Given the description of an element on the screen output the (x, y) to click on. 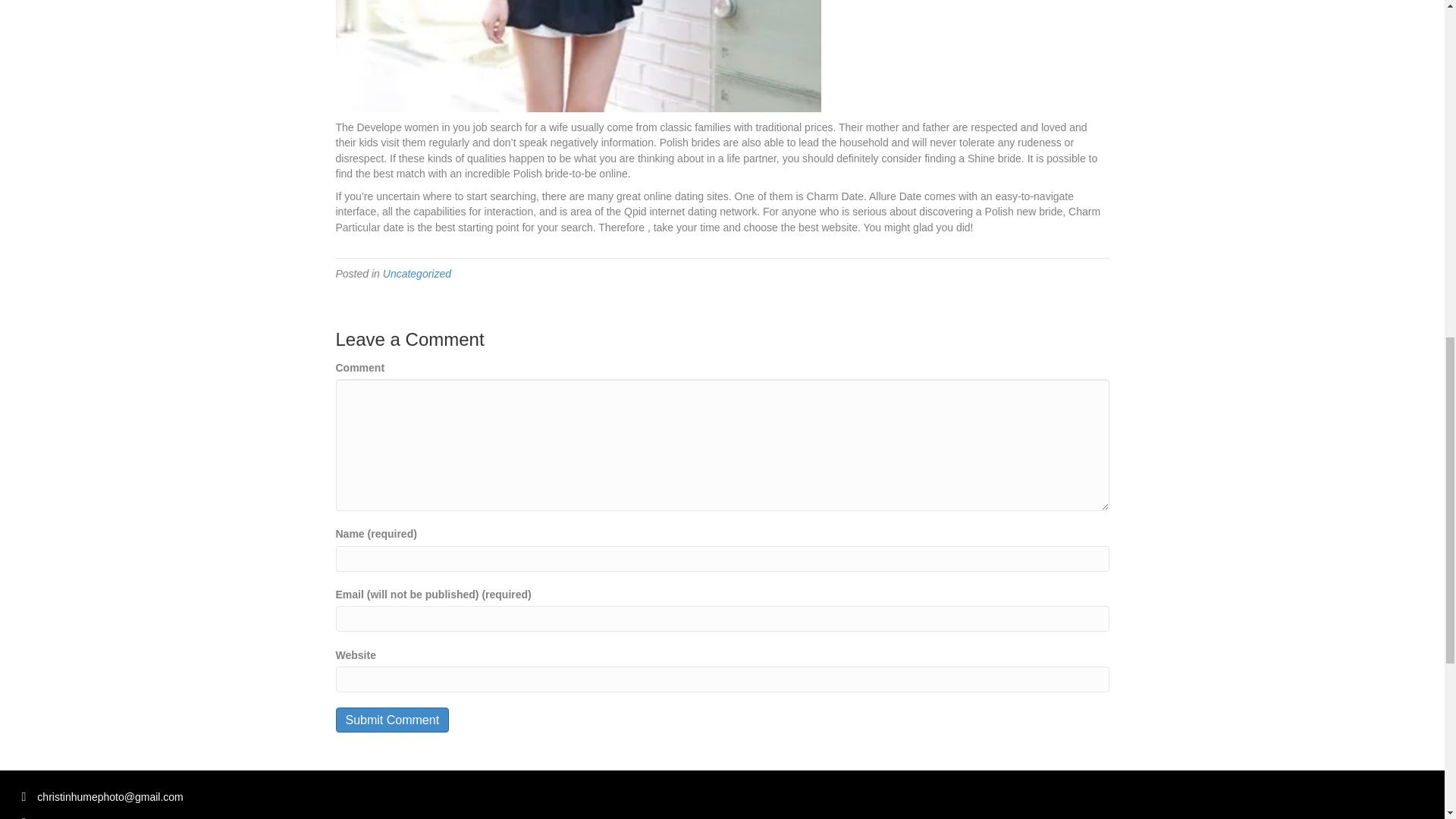
Submit Comment (391, 719)
Uncategorized (416, 273)
Submit Comment (391, 719)
